Given the description of an element on the screen output the (x, y) to click on. 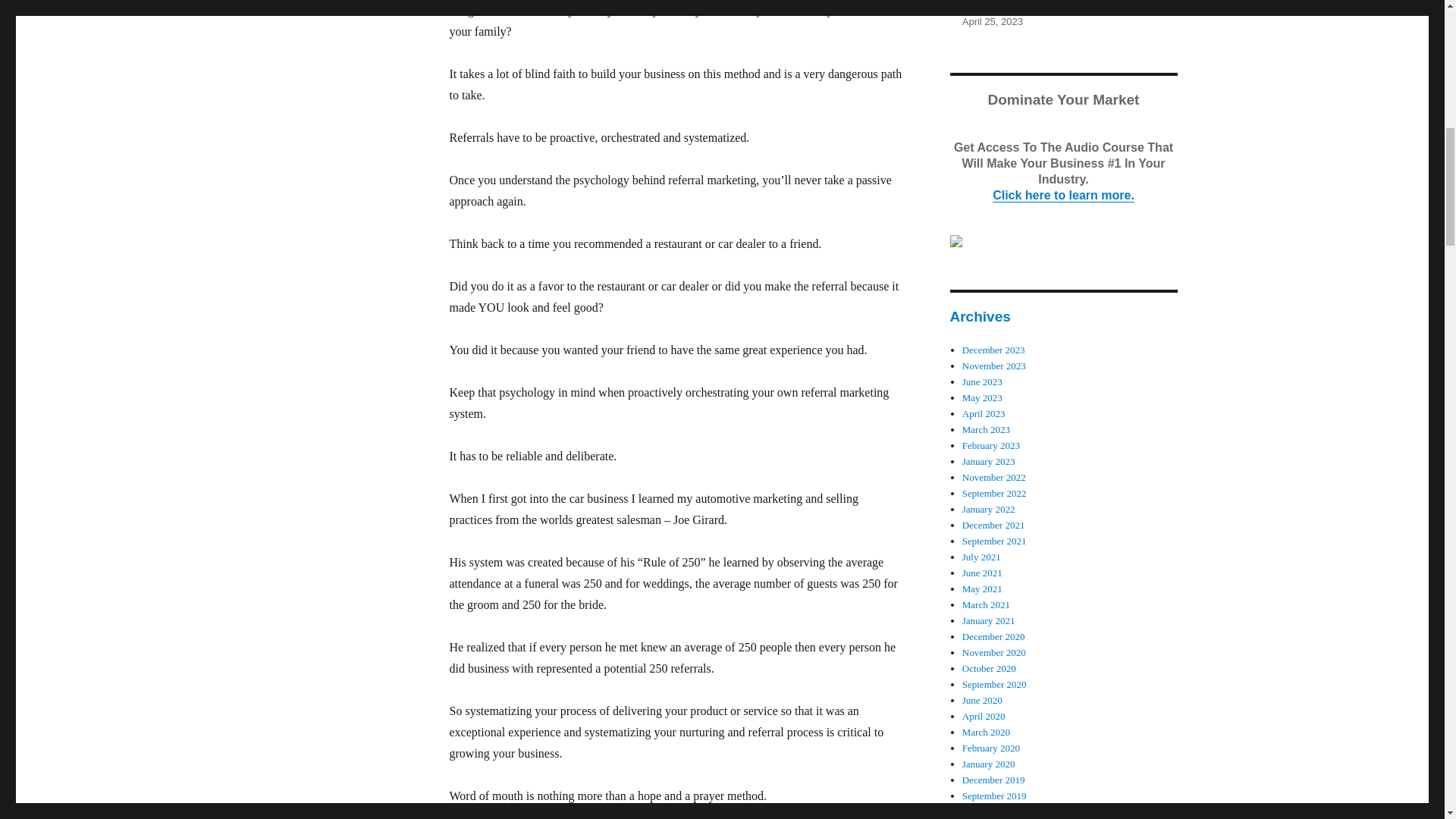
Click here to learn more. (1063, 195)
